Given the description of an element on the screen output the (x, y) to click on. 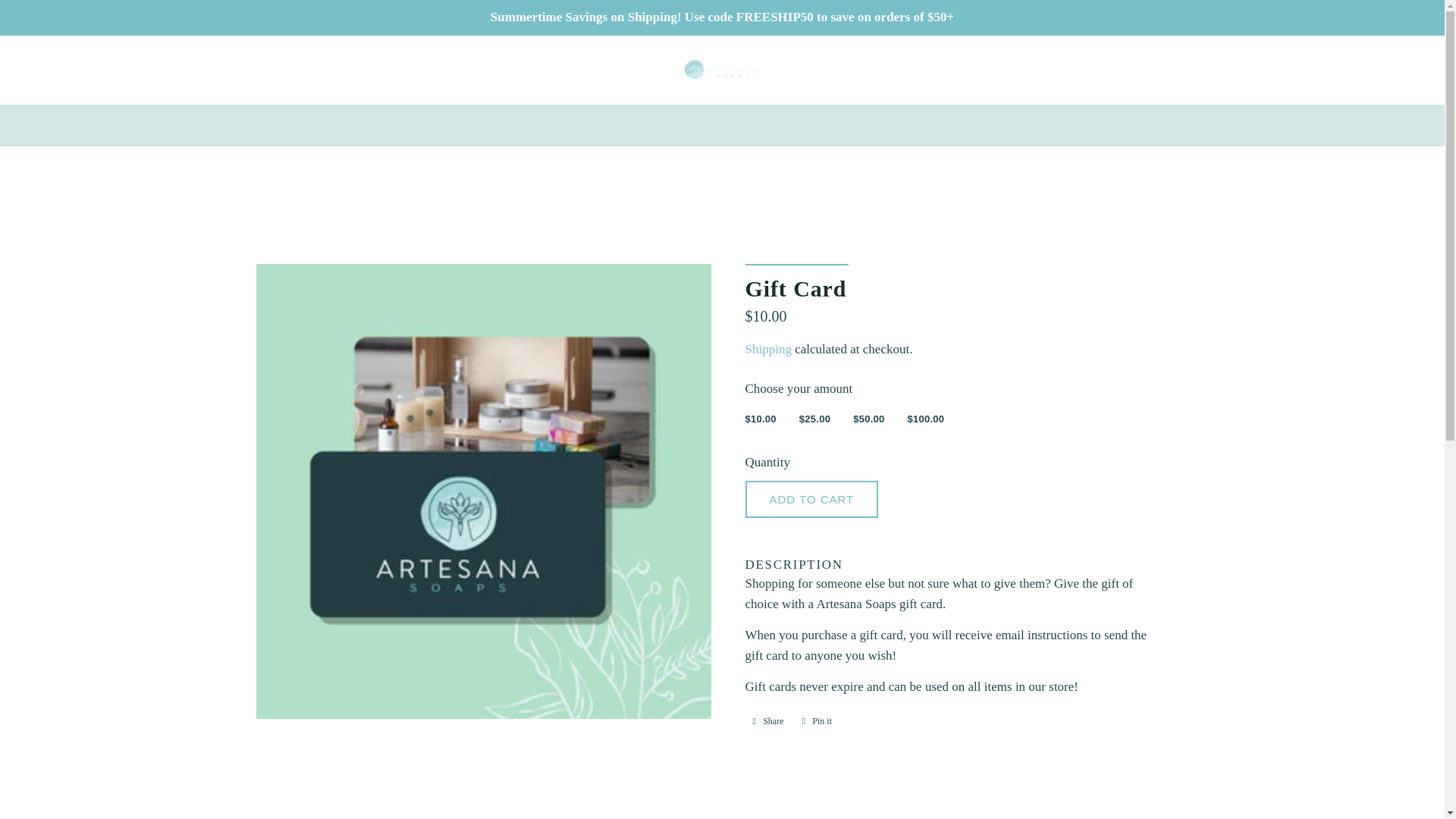
Pin on Pinterest (817, 720)
Share on Facebook (767, 720)
Log In (1340, 69)
Cart (1404, 69)
